Given the description of an element on the screen output the (x, y) to click on. 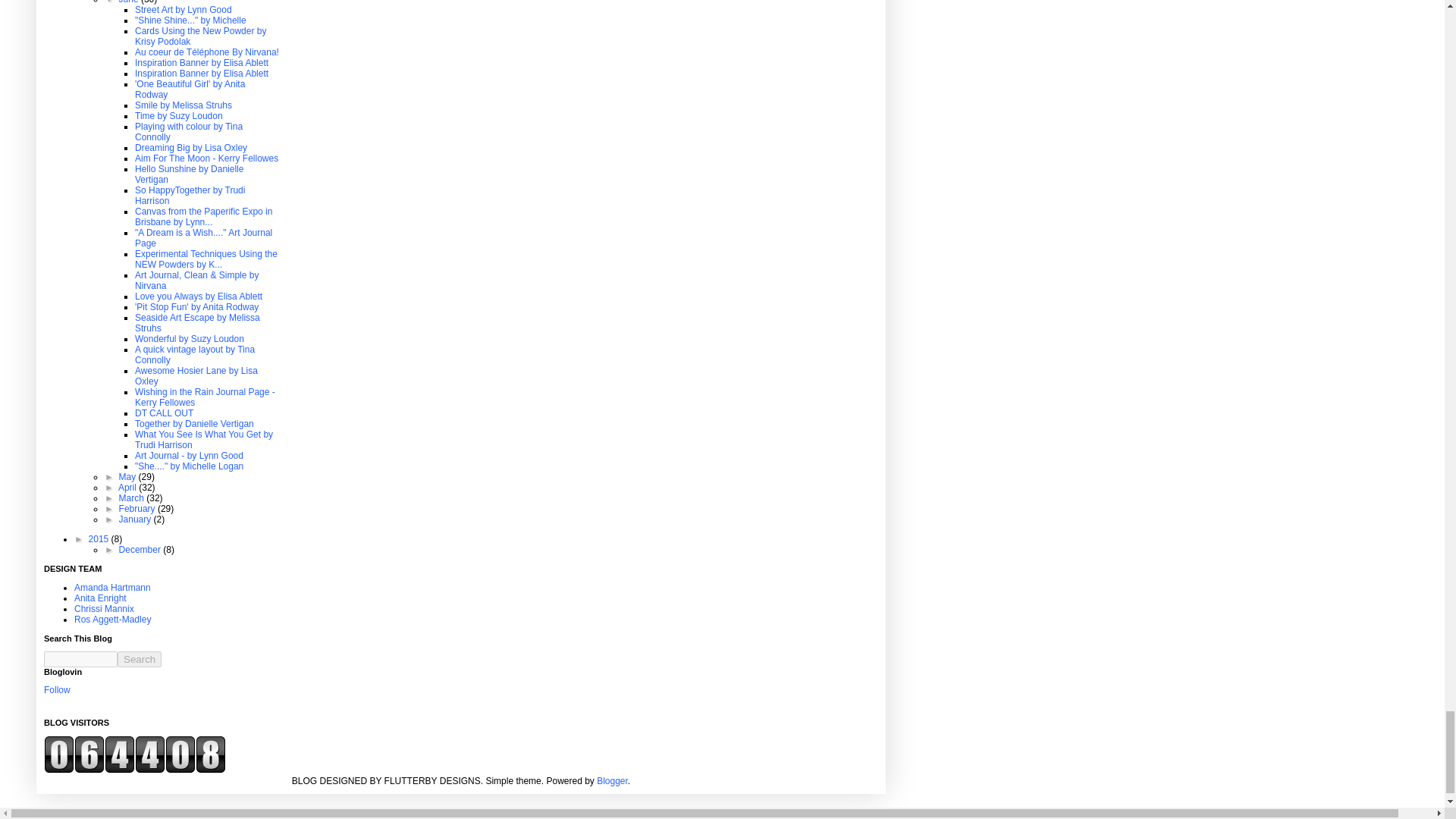
free hit counter code (134, 769)
Search (139, 659)
free hit counter code (134, 754)
search (139, 659)
search (80, 659)
Search (139, 659)
